Given the description of an element on the screen output the (x, y) to click on. 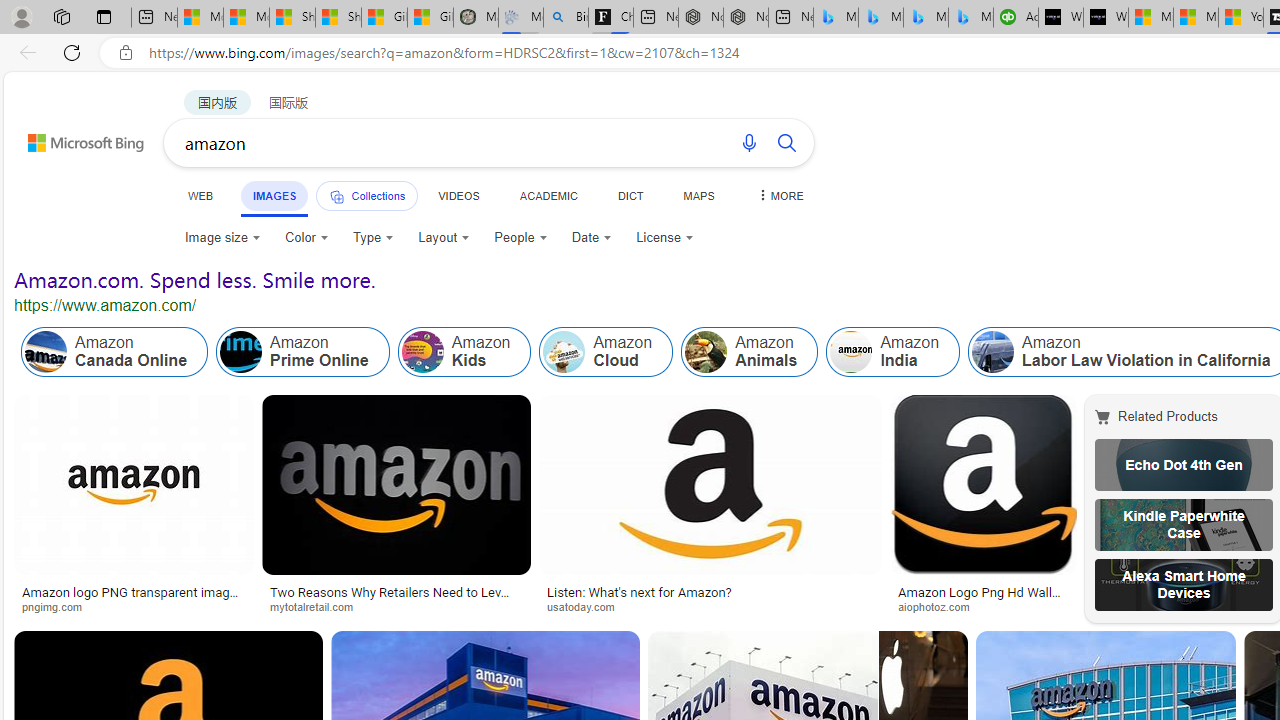
WEB (201, 195)
Amazon Kids (464, 351)
MAPS (698, 195)
Shanghai, China weather forecast | Microsoft Weather (338, 17)
Amazon India (893, 351)
Image size (222, 237)
Class: b_pri_nav_svg (336, 196)
aiophotoz.com (983, 606)
Manatee Mortality Statistics | FWC (475, 17)
Amazon Prime Online (241, 351)
WEB (201, 195)
DICT (630, 195)
